Given the description of an element on the screen output the (x, y) to click on. 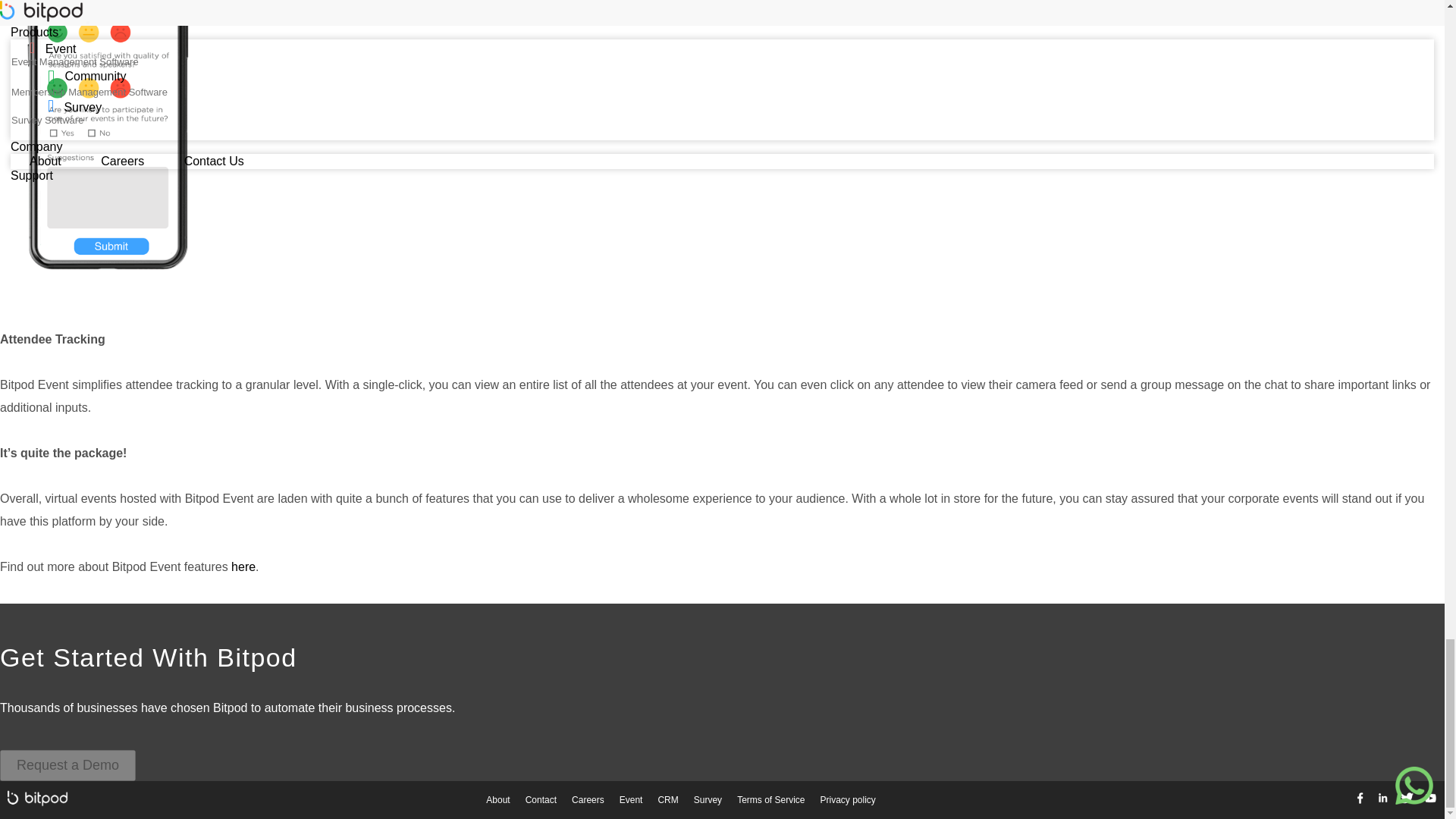
Terms of Service (770, 799)
Privacy policy (847, 799)
About (497, 799)
CRM (667, 799)
Contact (541, 799)
Request a Demo (67, 764)
Careers (587, 799)
Event (630, 799)
here (243, 566)
Survey (707, 799)
Request a Demo (67, 764)
